Given the description of an element on the screen output the (x, y) to click on. 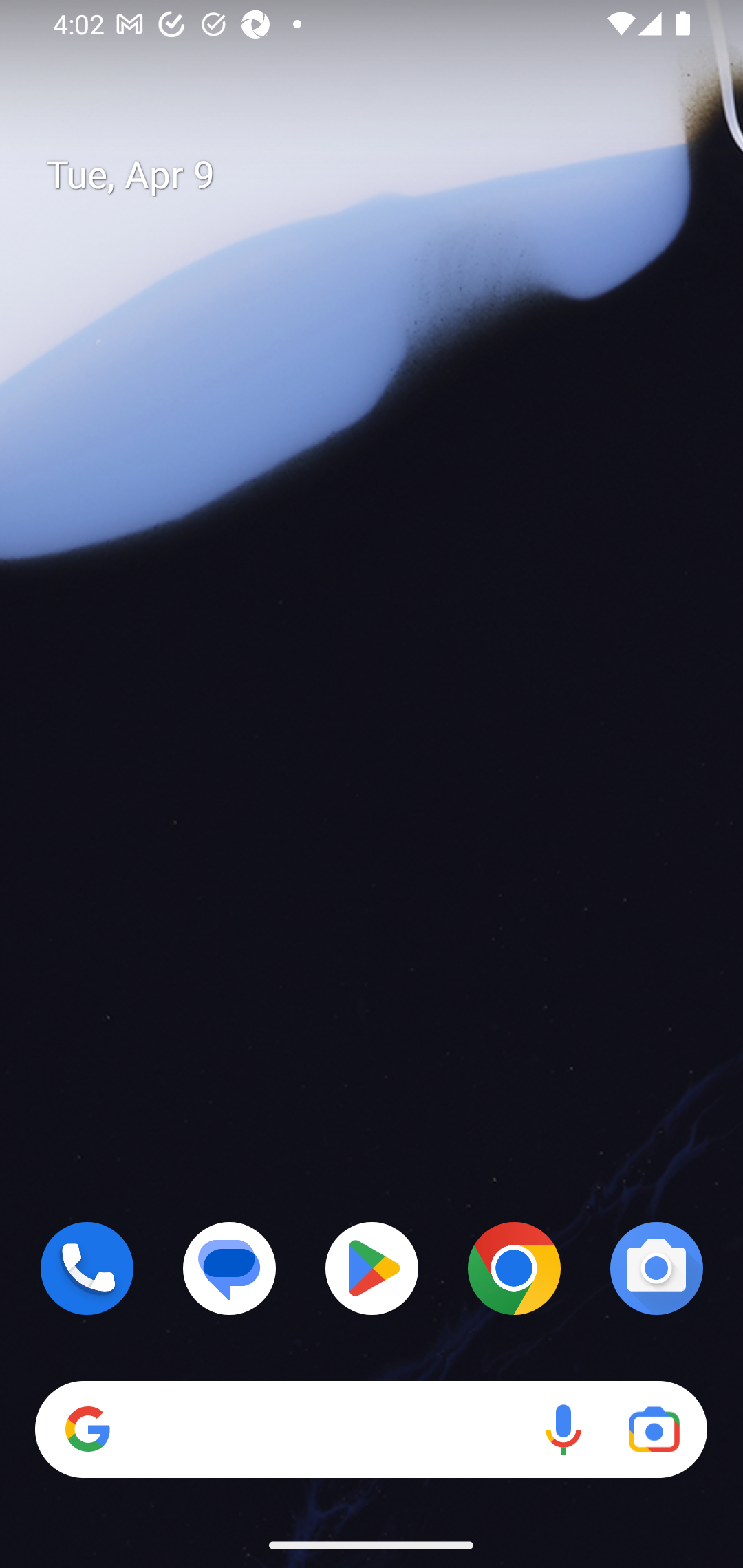
Tue, Apr 9 (386, 175)
Phone (86, 1268)
Messages (229, 1268)
Play Store (371, 1268)
Chrome (513, 1268)
Camera (656, 1268)
Voice search (562, 1429)
Google Lens (653, 1429)
